Given the description of an element on the screen output the (x, y) to click on. 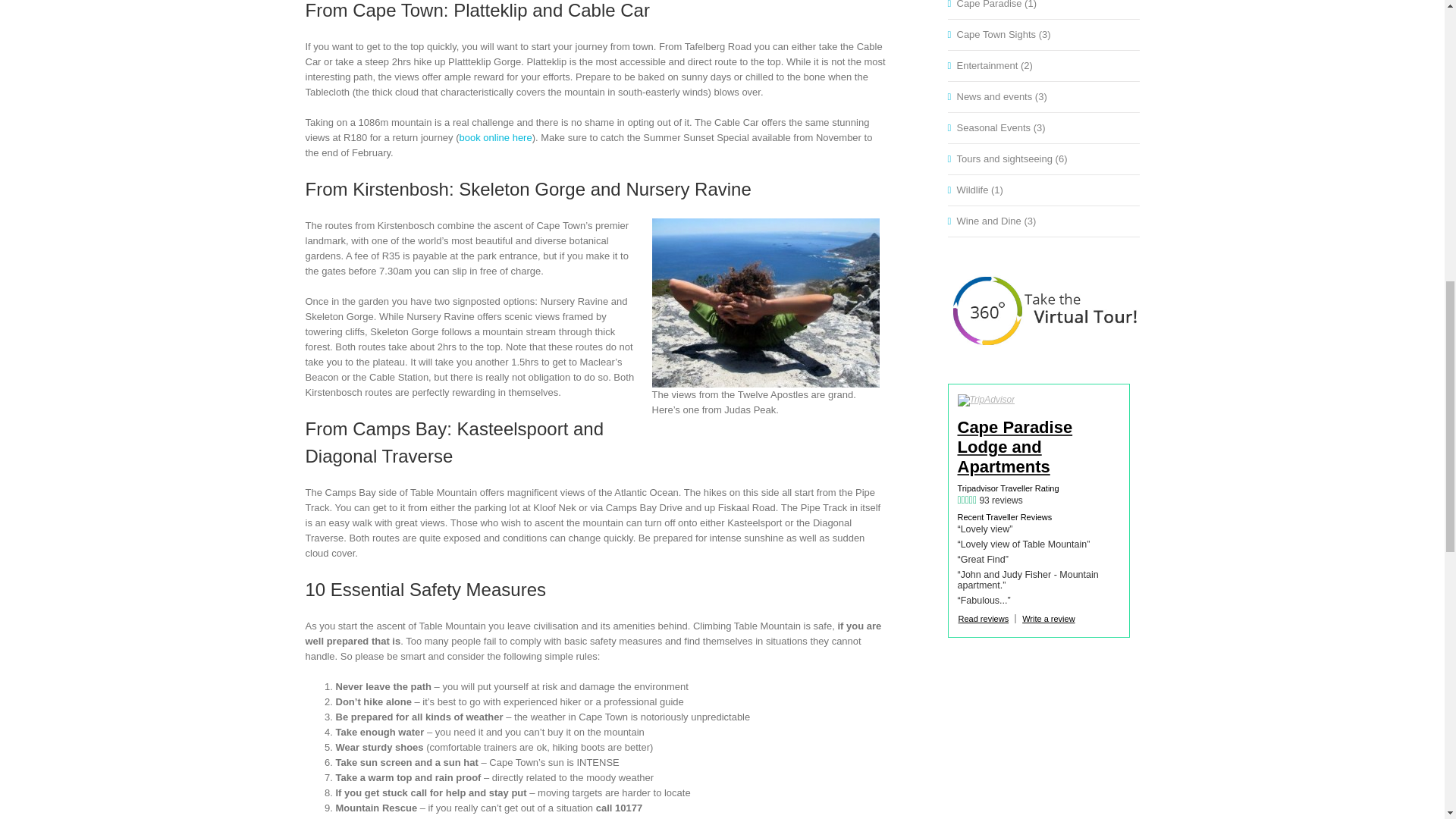
Judas Peak (765, 302)
Cape Town has a great selection of tours. View them here.  (1044, 159)
View our exceptional wildlife from the area.  (1044, 190)
All the entertainment news you need to know. (1044, 65)
All the news and information associated with Cape Paradise.  (1044, 5)
